Given the description of an element on the screen output the (x, y) to click on. 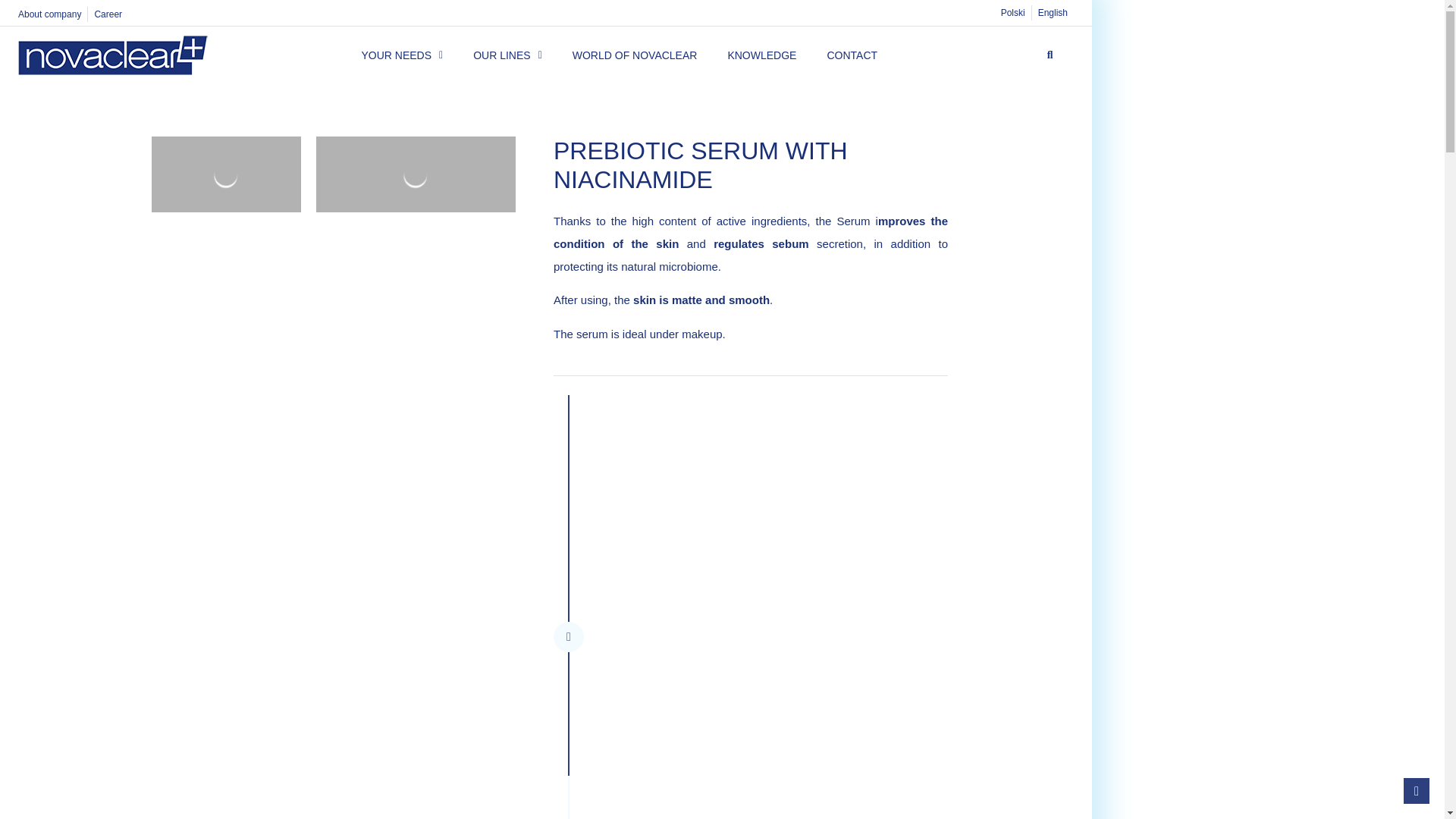
Career (108, 14)
About company (49, 14)
English (1053, 12)
Polski (1012, 12)
YOUR NEEDS (401, 55)
OUR LINES (507, 55)
